Given the description of an element on the screen output the (x, y) to click on. 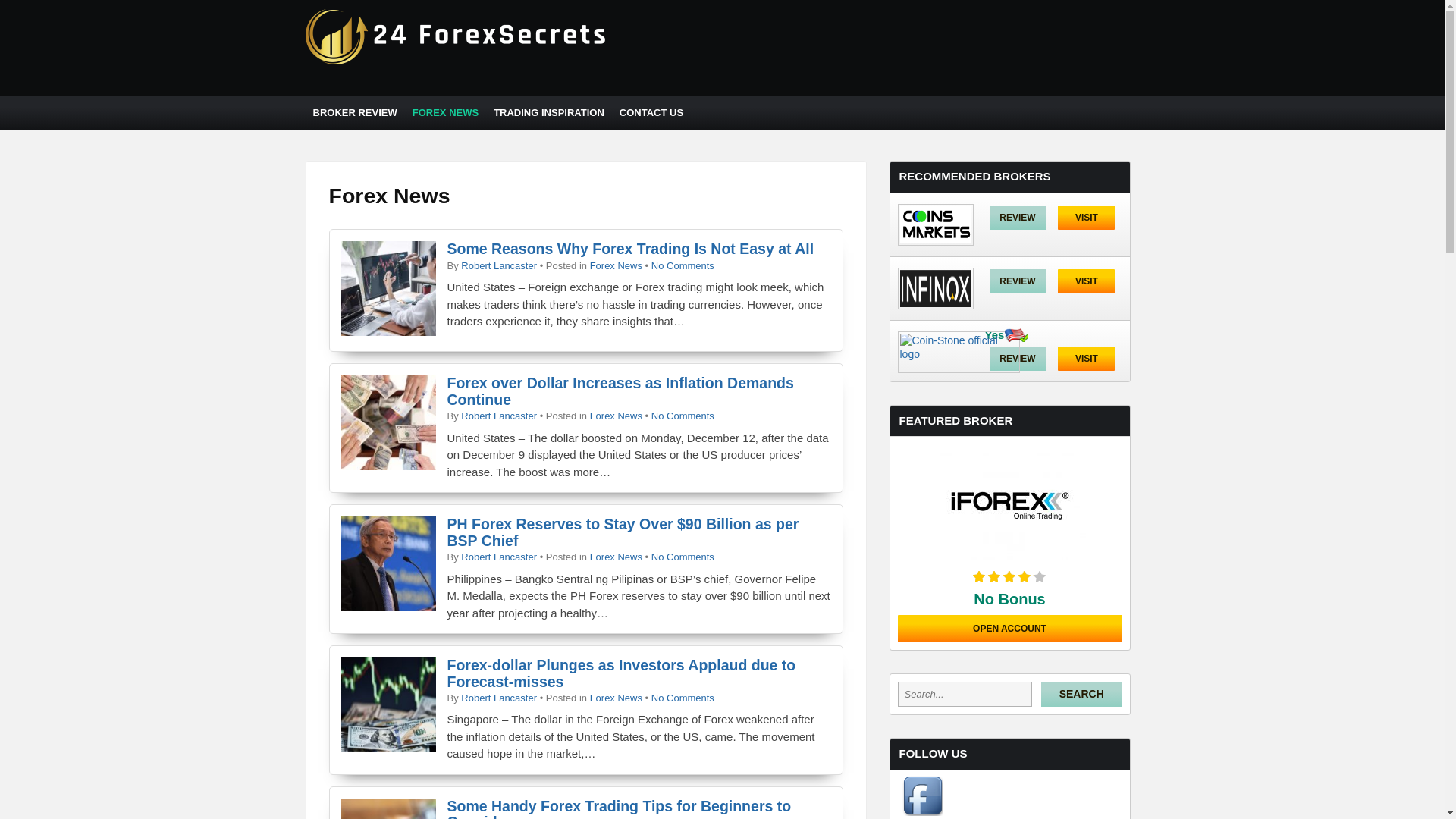
Forex News Element type: text (615, 556)
PH Forex Reserves to Stay Over $90 Billion as per BSP Chief Element type: text (623, 531)
OPEN ACCOUNT Element type: text (1009, 628)
Robert Lancaster Element type: text (498, 697)
Forex News Element type: text (615, 265)
Forex News Element type: text (615, 415)
Forex News Element type: text (615, 697)
24 Forex Secrets Element type: hover (456, 61)
Robert Lancaster Element type: text (498, 556)
FOREX NEWS Element type: text (445, 112)
Advertisement Element type: hover (859, 46)
REVIEW Element type: text (1016, 281)
No Comments Element type: text (682, 265)
TRADING INSPIRATION Element type: text (548, 112)
VISIT Element type: text (1085, 358)
No Comments Element type: text (682, 556)
No Comments Element type: text (682, 415)
Robert Lancaster Element type: text (498, 415)
CONTACT US Element type: text (650, 112)
Follow us on Facebook Element type: hover (922, 812)
REVIEW Element type: text (1016, 358)
Forex over Dollar Increases as Inflation Demands Continue Element type: text (620, 390)
VISIT Element type: text (1085, 281)
BROKER REVIEW Element type: text (354, 112)
VISIT Element type: text (1085, 216)
Search Element type: text (1081, 693)
REVIEW Element type: text (1016, 216)
No Comments Element type: text (682, 697)
Some Reasons Why Forex Trading Is Not Easy at All Element type: text (630, 248)
Robert Lancaster Element type: text (498, 265)
